Given the description of an element on the screen output the (x, y) to click on. 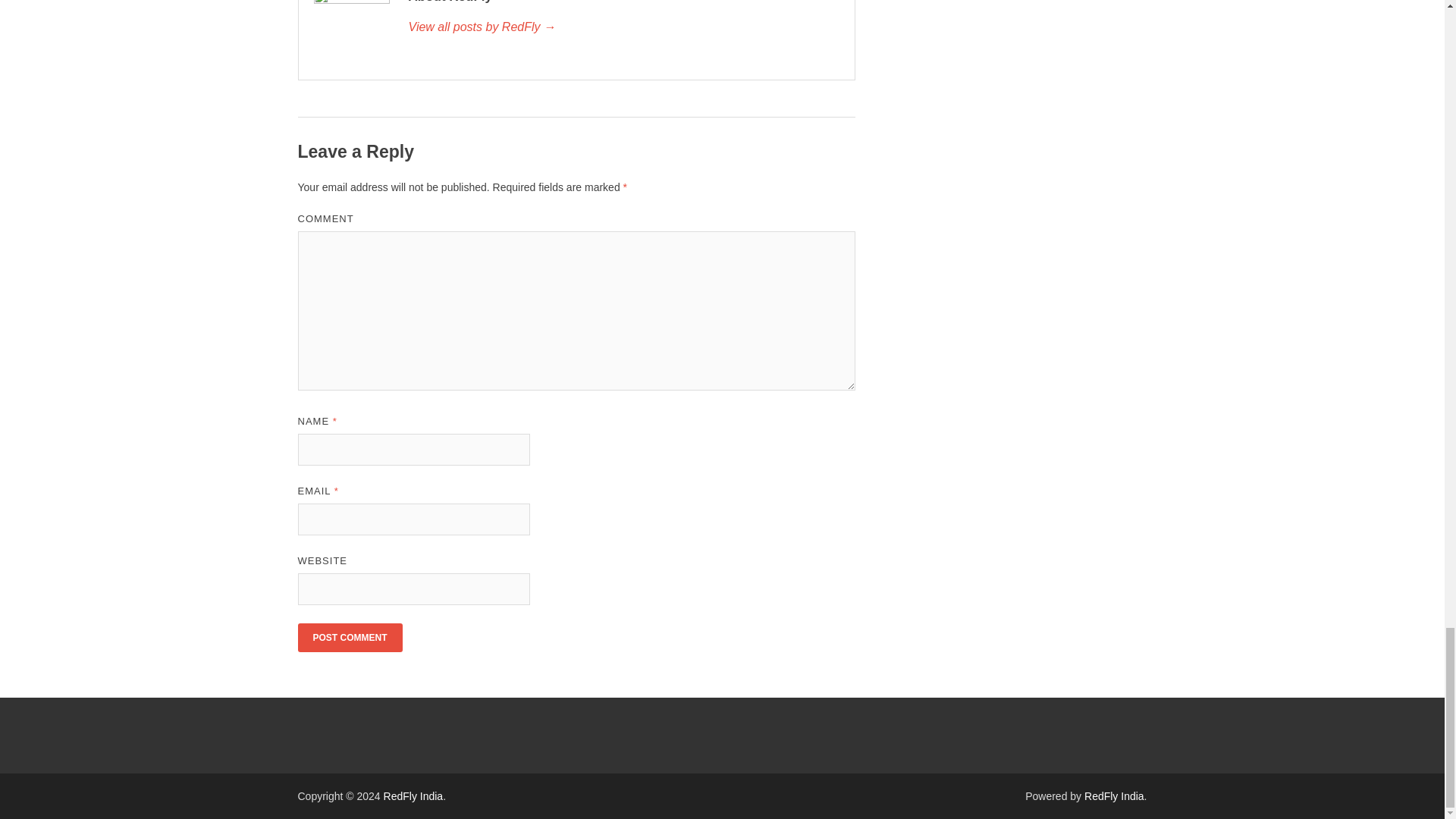
Post Comment (349, 637)
Post Comment (349, 637)
RedFly (622, 27)
RedFly India (1114, 796)
RedFly India (414, 796)
RedFly India (414, 796)
